Given the description of an element on the screen output the (x, y) to click on. 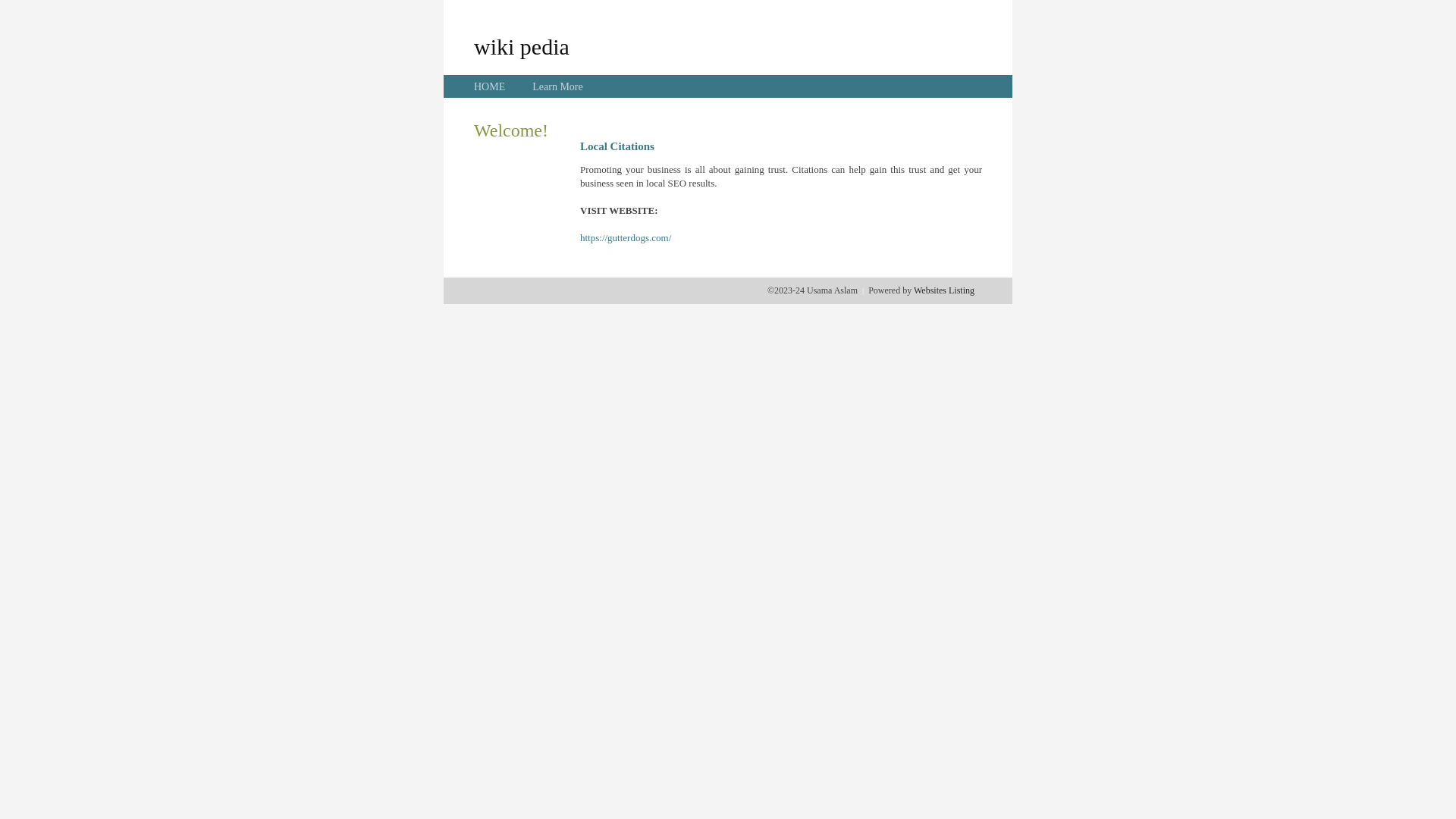
Websites Listing Element type: text (943, 290)
HOME Element type: text (489, 86)
wiki pedia Element type: text (521, 46)
Learn More Element type: text (557, 86)
https://gutterdogs.com/ Element type: text (625, 237)
